Given the description of an element on the screen output the (x, y) to click on. 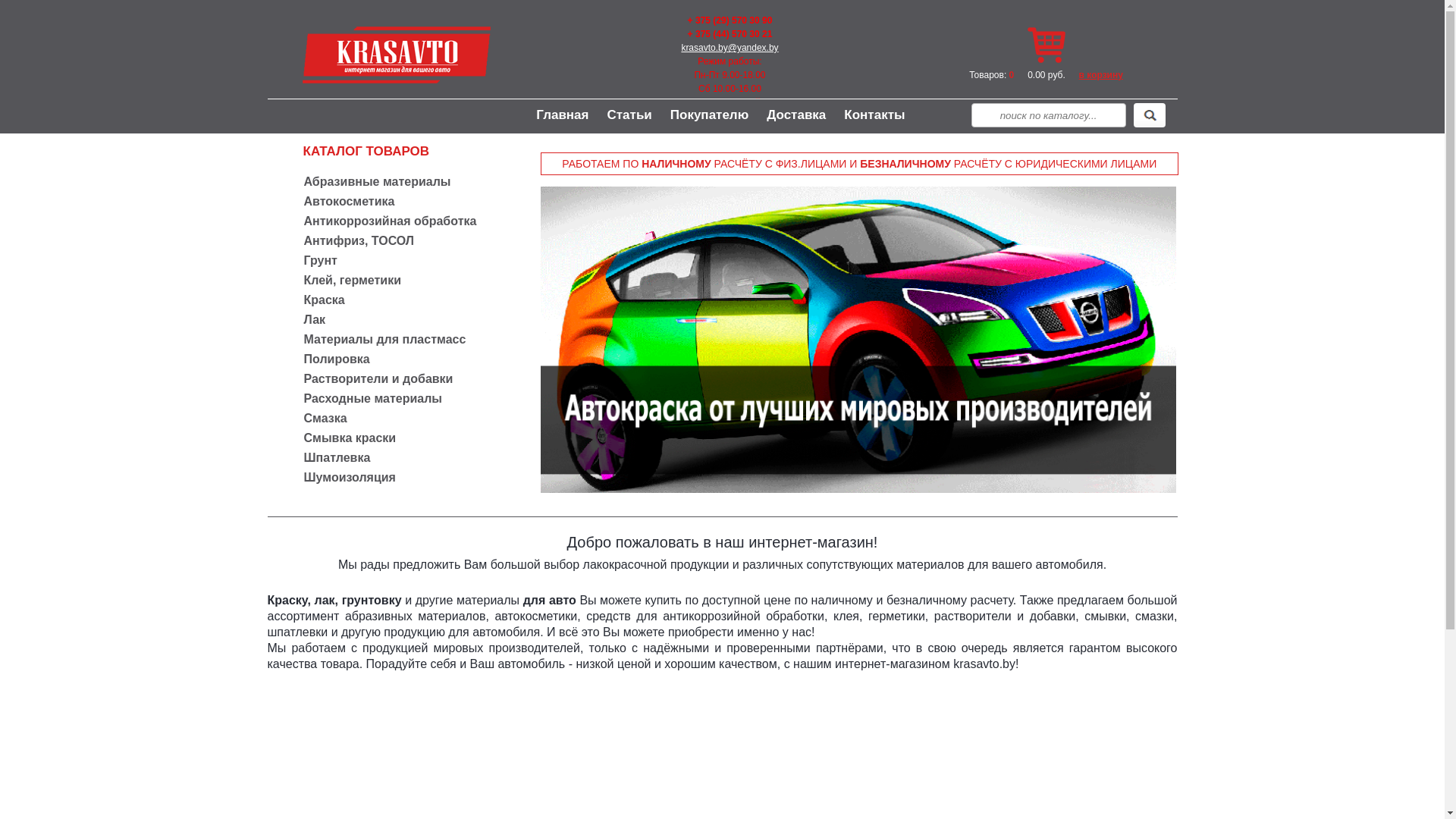
krasavto.by@yandex.by Element type: text (729, 47)
